Given the description of an element on the screen output the (x, y) to click on. 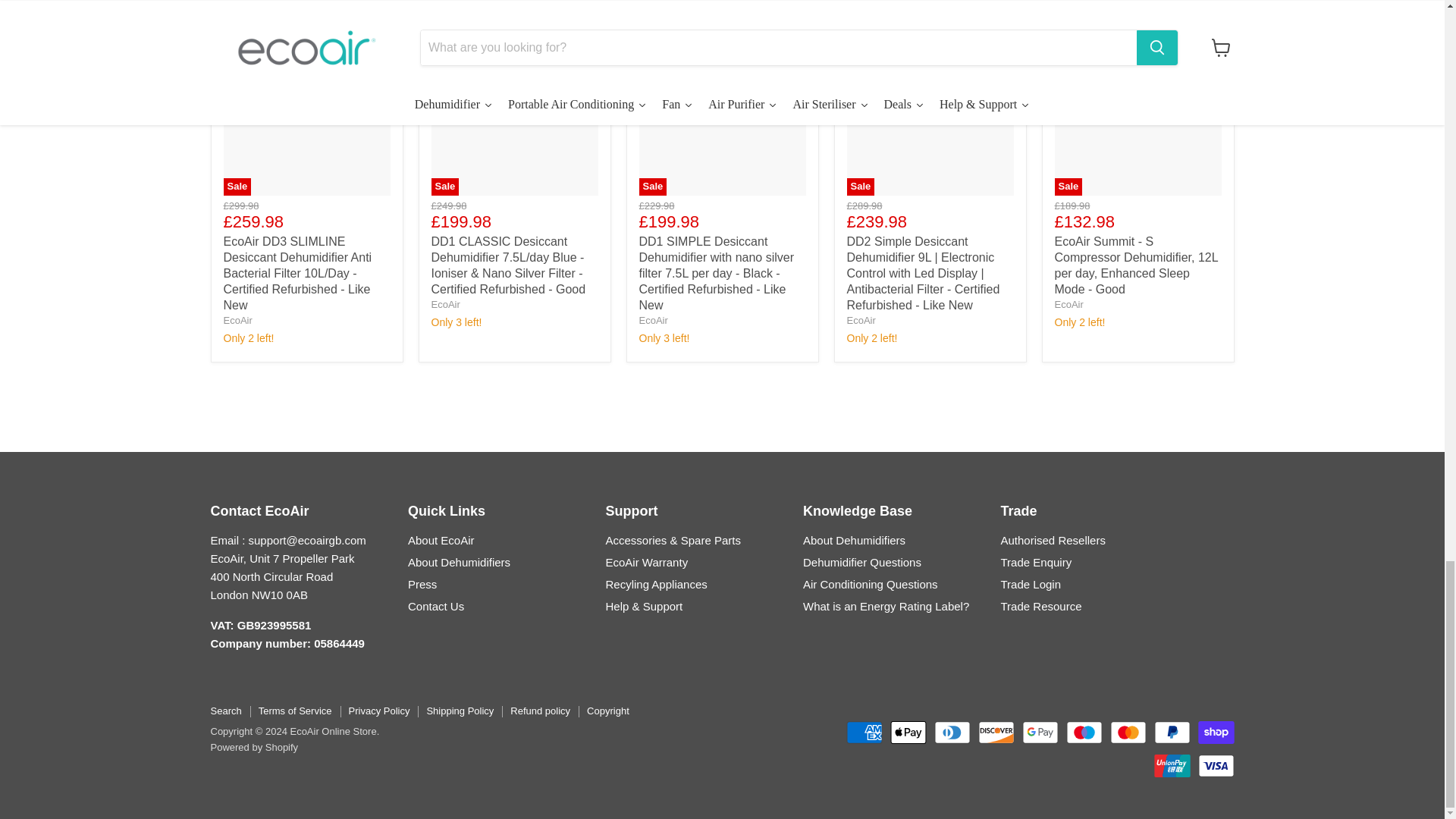
EcoAir (236, 319)
American Express (863, 732)
EcoAir (652, 319)
EcoAir (445, 304)
EcoAir (1068, 304)
EcoAir (860, 319)
